Given the description of an element on the screen output the (x, y) to click on. 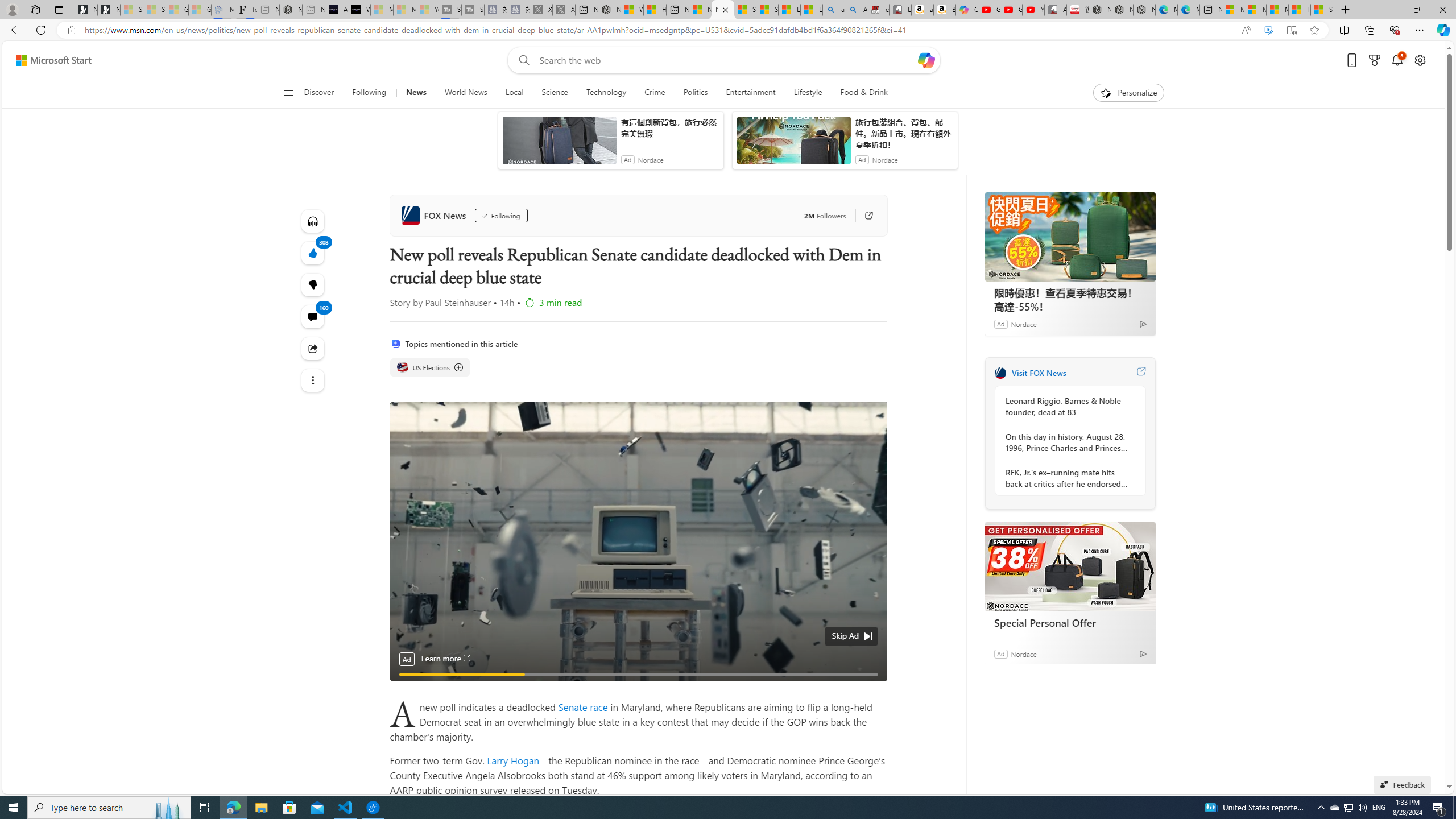
US Elections US Elections US Elections (430, 367)
Unmute (871, 688)
Microsoft account | Privacy (1255, 9)
